Given the description of an element on the screen output the (x, y) to click on. 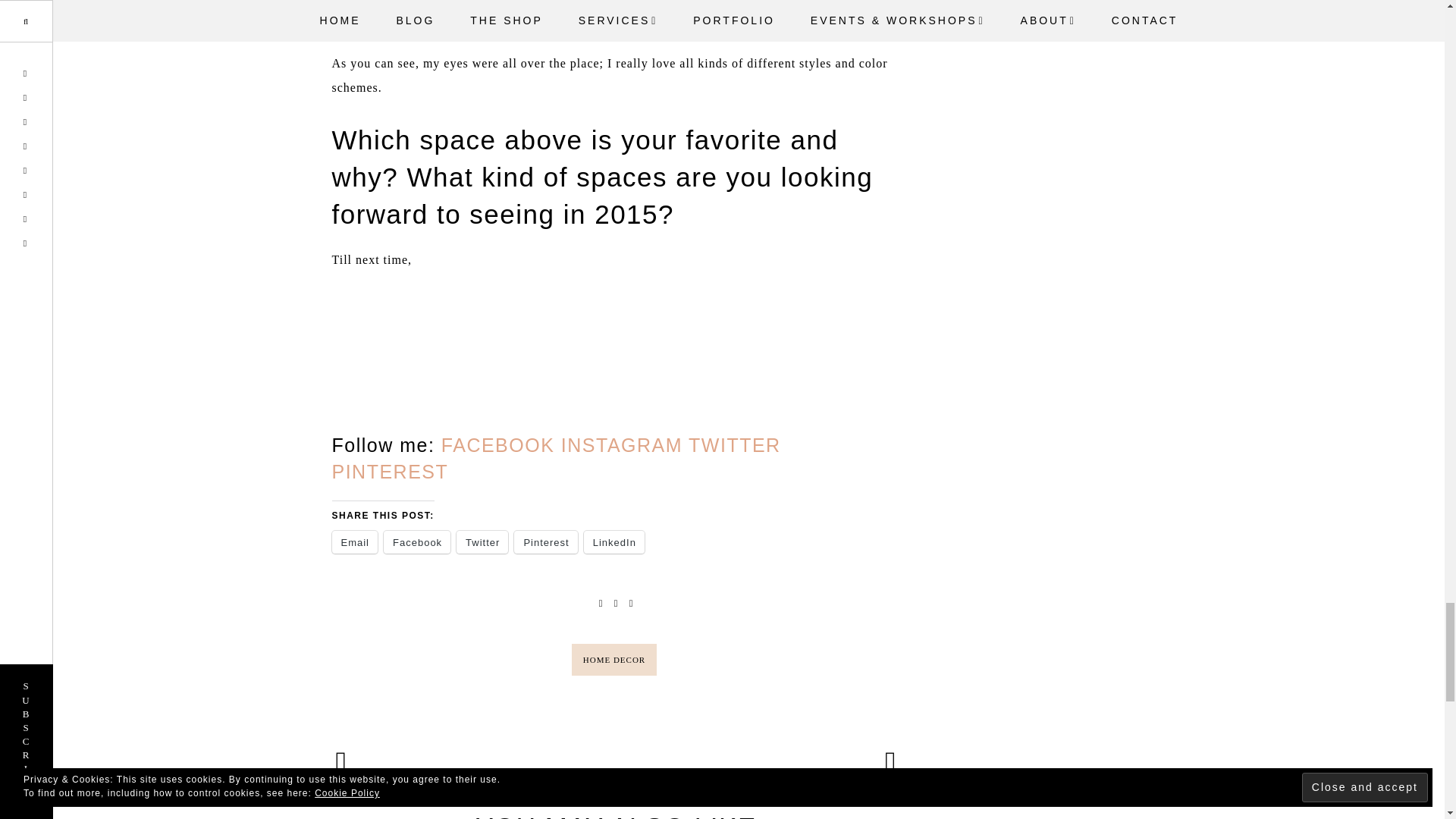
Click to email a link to a friend (354, 541)
Click to share on Pinterest (544, 541)
Click to share on Facebook (416, 541)
Click to share on Twitter (482, 541)
Click to share on LinkedIn (614, 541)
